Given the description of an element on the screen output the (x, y) to click on. 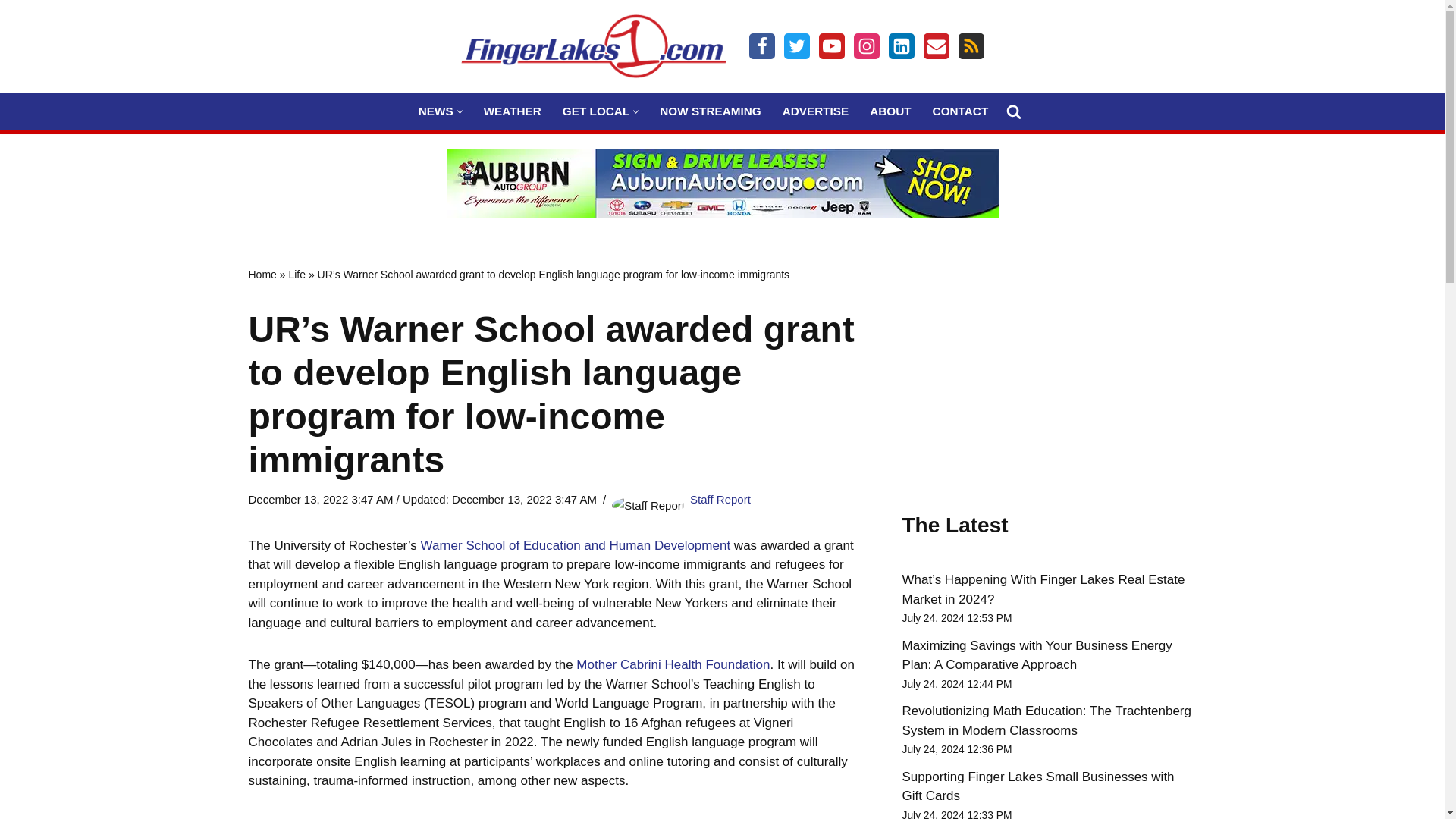
Twitter (796, 45)
GET LOCAL (595, 111)
Email Us (936, 45)
ABOUT (890, 111)
LinkIn (901, 45)
WEATHER (512, 111)
CONTACT (960, 111)
Feed (971, 45)
Youtube (831, 45)
Facebook (761, 45)
ADVERTISE (815, 111)
NEWS (435, 111)
Skip to content (11, 31)
Instagram (866, 45)
Posts by Staff Report (720, 499)
